Given the description of an element on the screen output the (x, y) to click on. 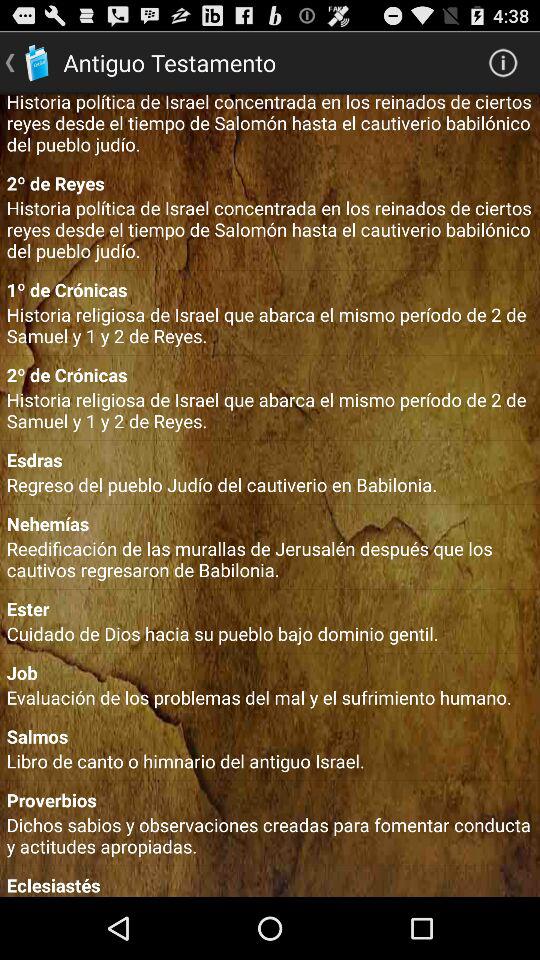
scroll to ester (269, 608)
